Given the description of an element on the screen output the (x, y) to click on. 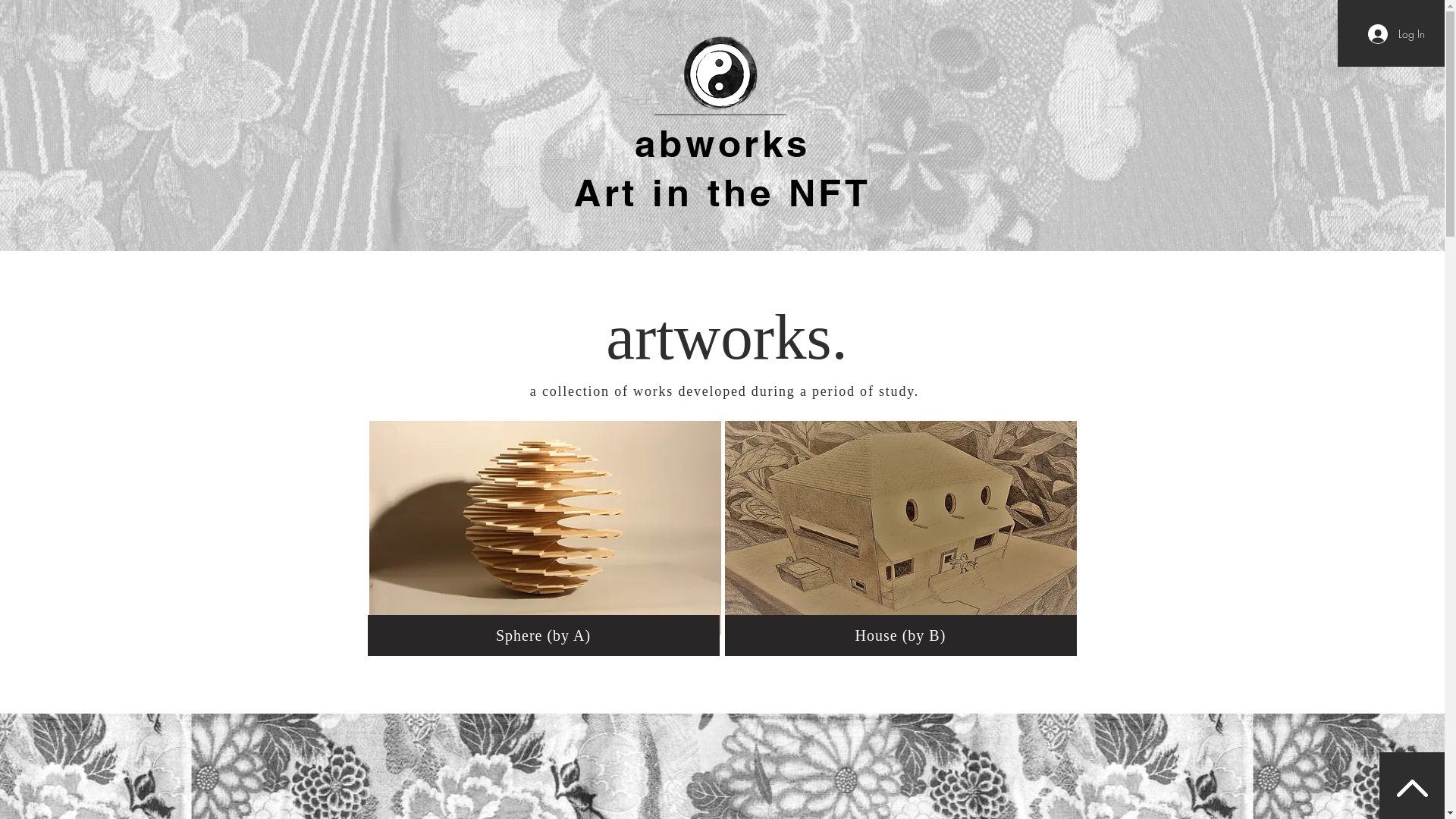
House (by B) Element type: text (900, 635)
Sphere (by A) Element type: text (542, 635)
Log In Element type: text (1396, 33)
